Given the description of an element on the screen output the (x, y) to click on. 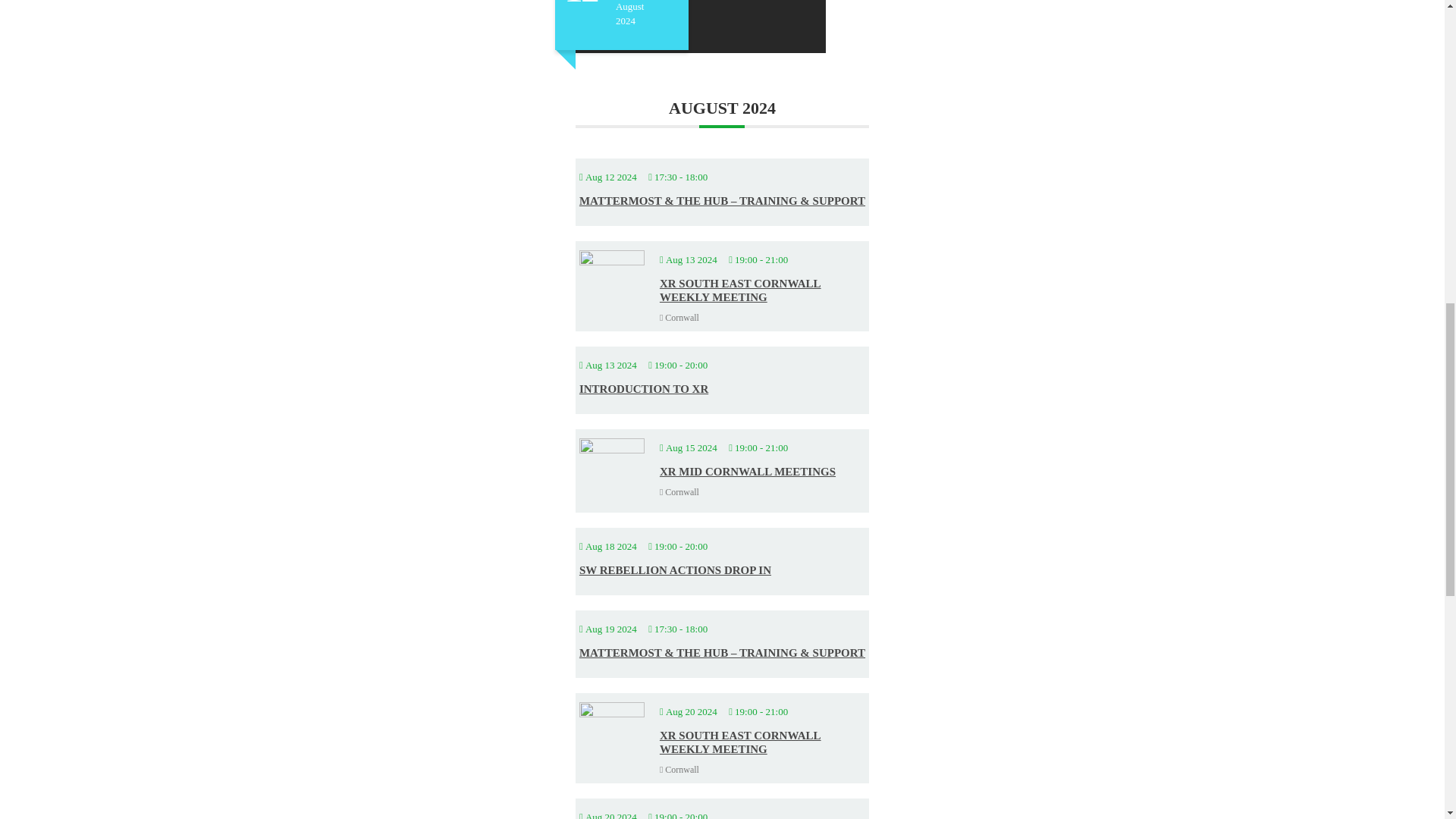
XR SOUTH EAST CORNWALL WEEKLY MEETING (740, 290)
INTRODUCTION TO XR (643, 388)
XR MID CORNWALL MEETINGS (747, 471)
